Given the description of an element on the screen output the (x, y) to click on. 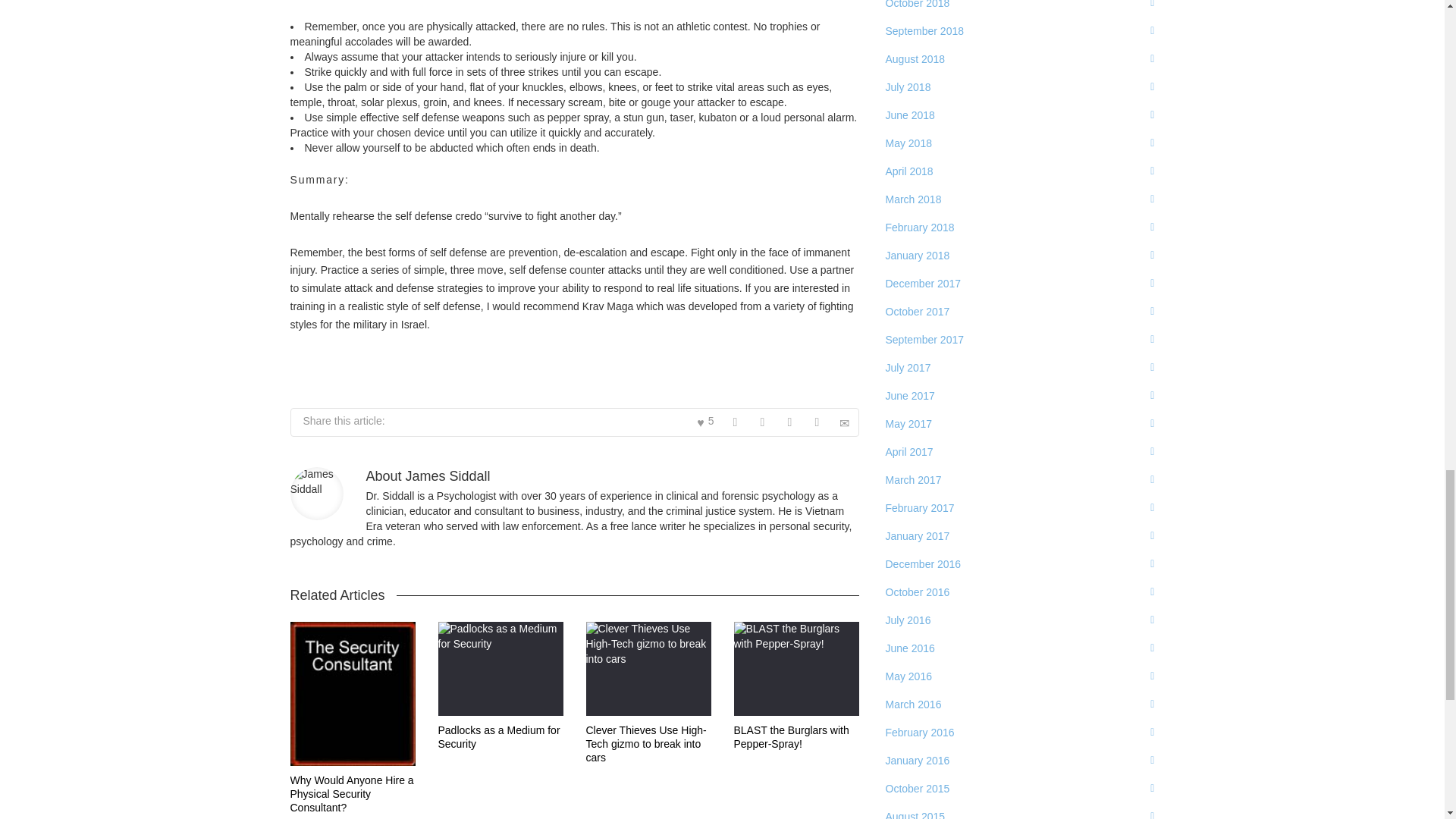
Permanent Link to Padlocks as a Medium for Security (499, 736)
Permanent Link to BLAST the Burglars with Pepper-Spray! (790, 736)
Why Would Anyone Hire a Physical Security Consultant? (351, 793)
Padlocks as a Medium for Security (499, 736)
